Given the description of an element on the screen output the (x, y) to click on. 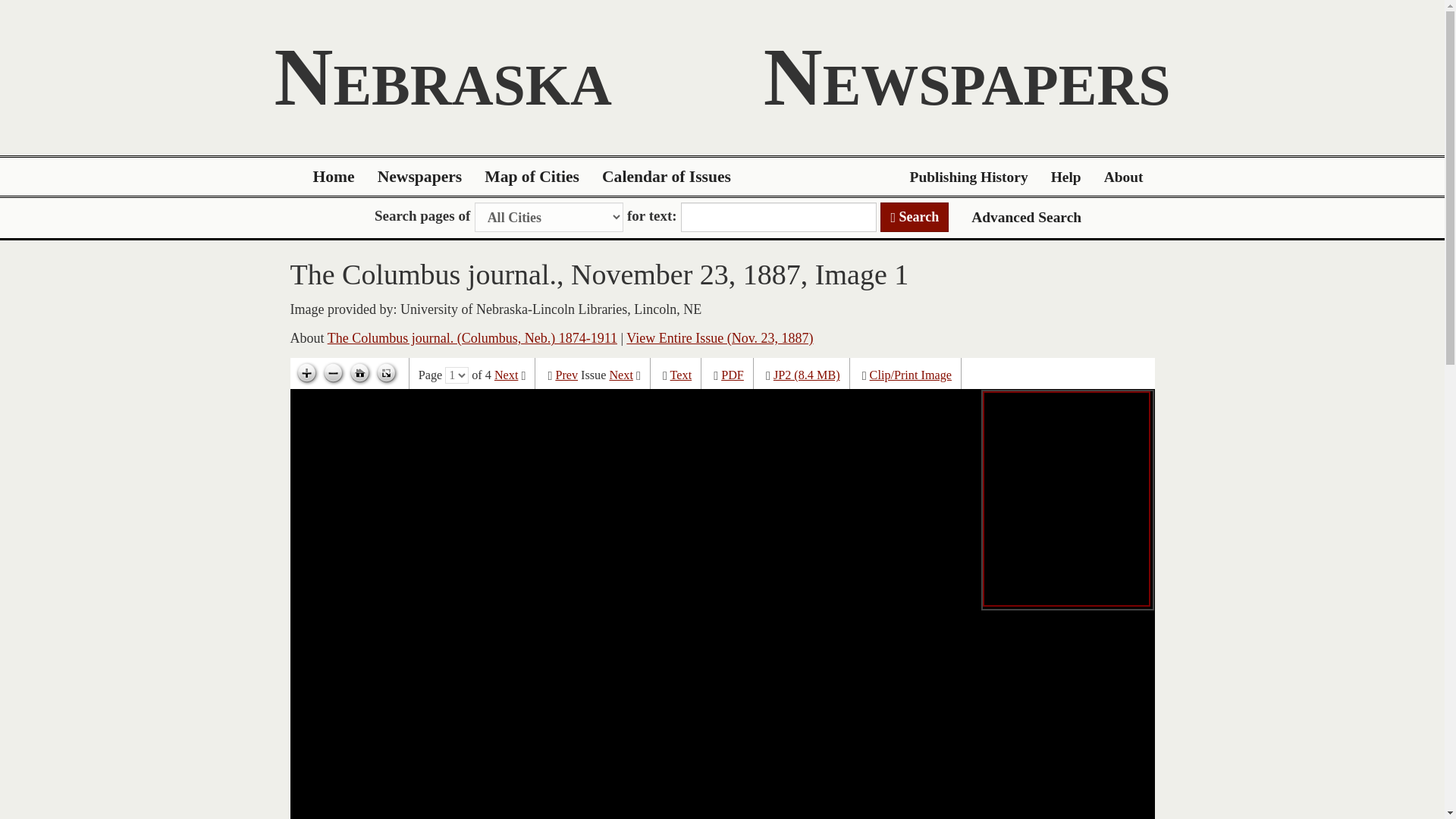
Newspapers (420, 176)
Toggle full page (385, 373)
Next (506, 375)
Next (619, 375)
Zoom out (333, 373)
Text (681, 375)
Prev (566, 375)
Calendar of Issues (666, 176)
Map of Cities (532, 176)
Publishing History (968, 176)
